Given the description of an element on the screen output the (x, y) to click on. 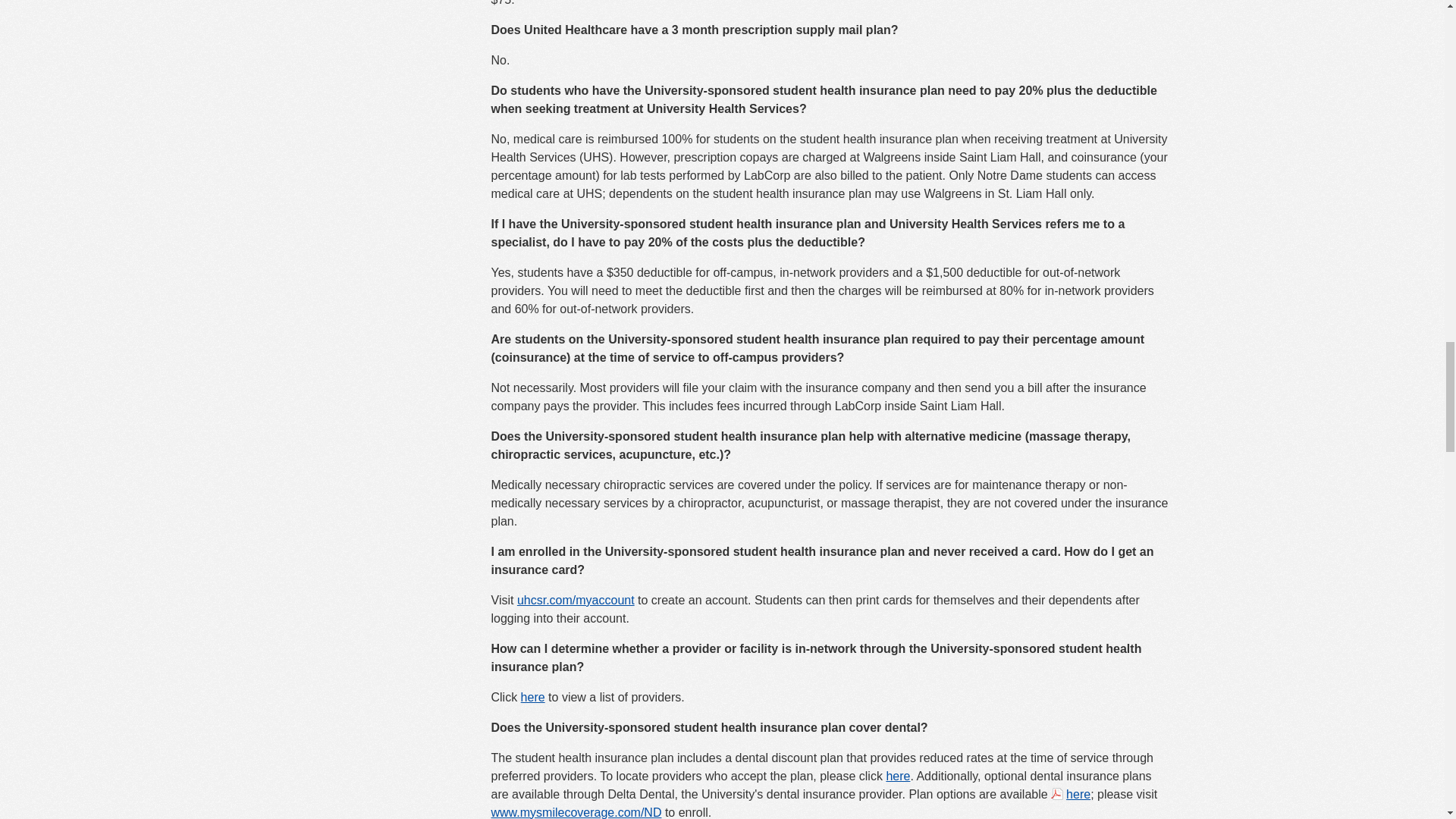
here (1070, 793)
here (532, 697)
here (897, 775)
